Given the description of an element on the screen output the (x, y) to click on. 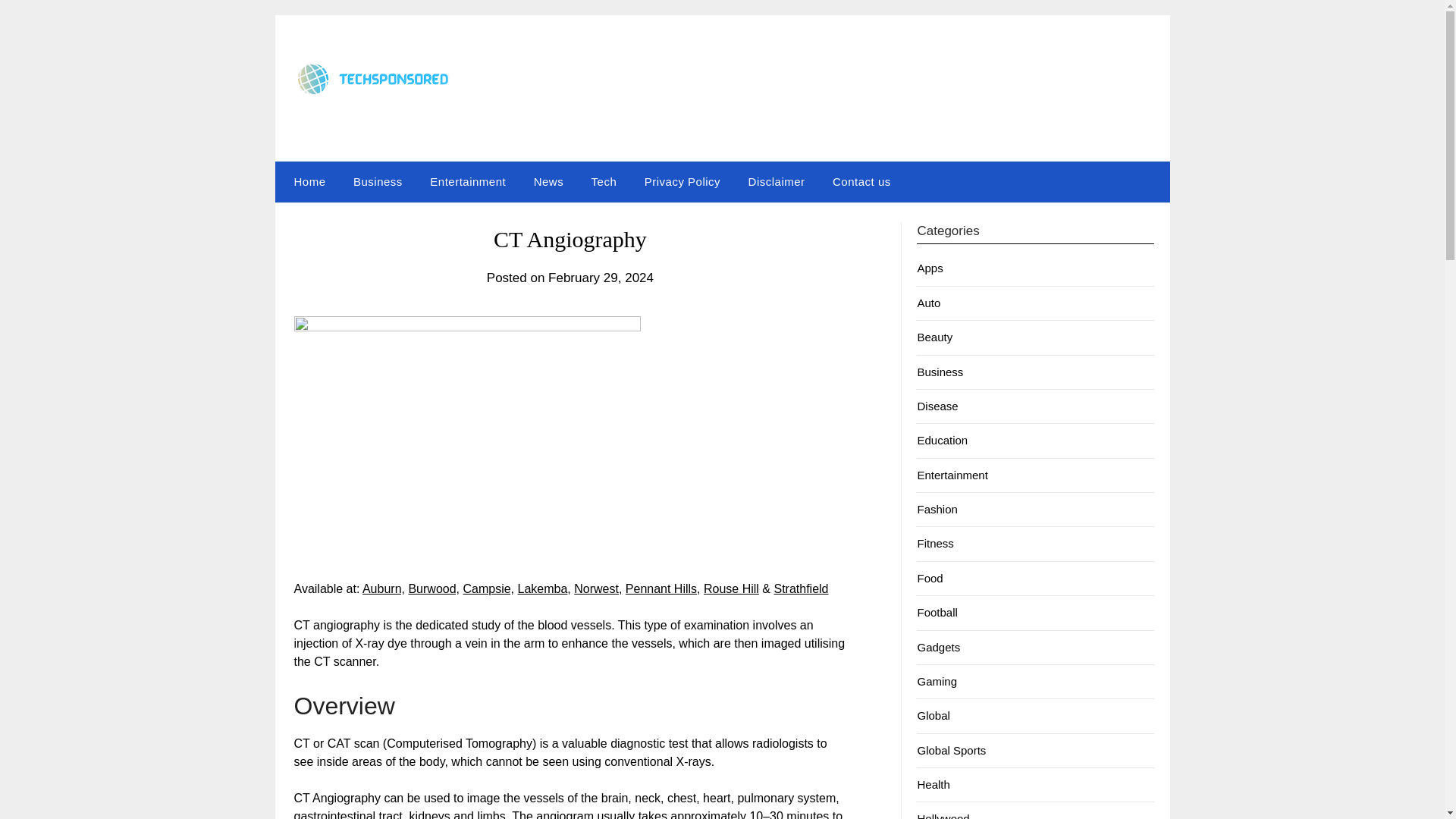
Rouse Hill (730, 588)
News (548, 181)
Education (942, 440)
Auto (928, 302)
Campsie, (488, 588)
Business (939, 371)
Lakemba (542, 588)
Auburn, (383, 588)
Pennant Hills (661, 588)
Privacy Policy (681, 181)
